Given the description of an element on the screen output the (x, y) to click on. 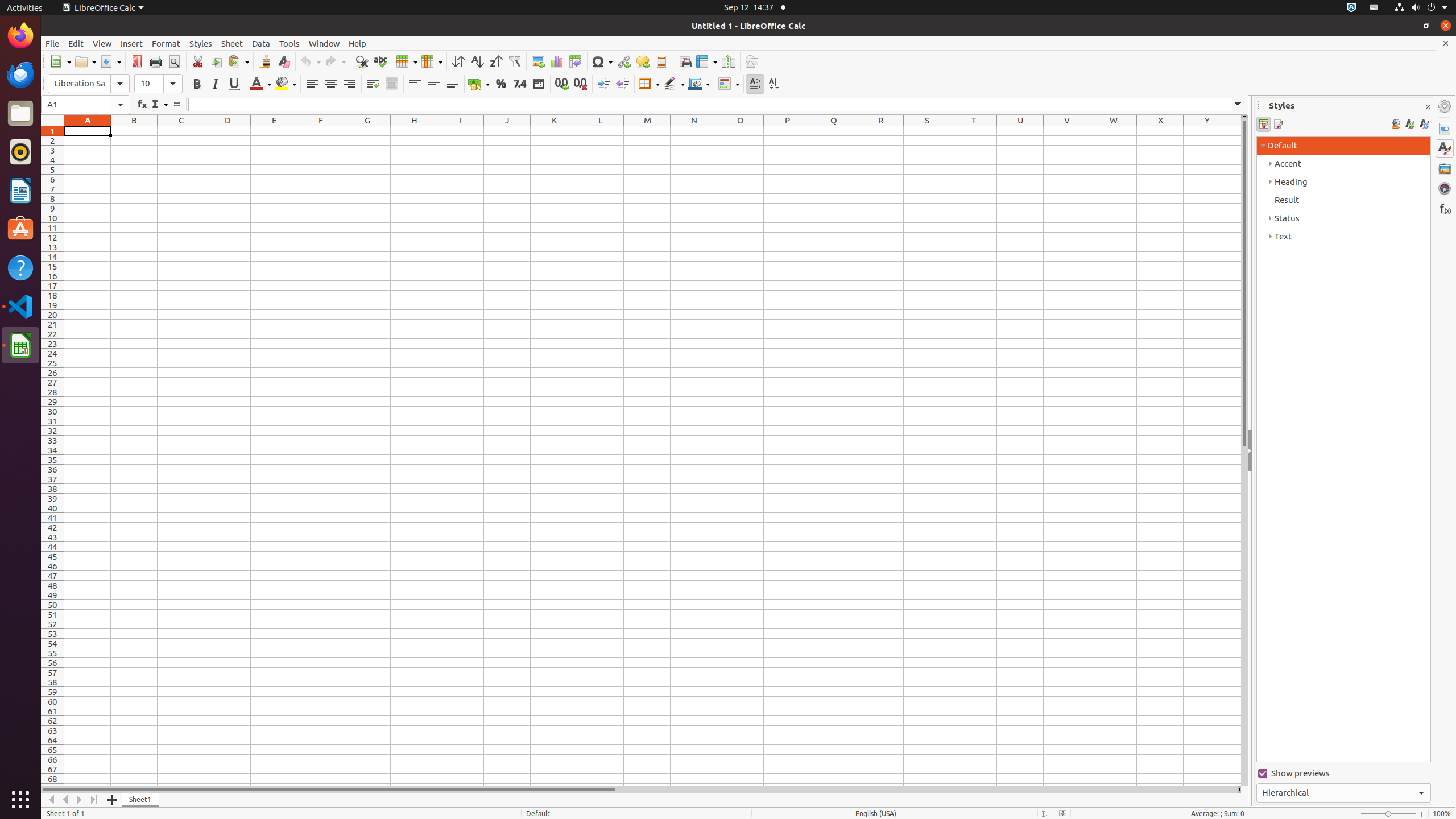
Sort Element type: push-button (457, 61)
PDF Element type: push-button (136, 61)
Text direction from top to bottom Element type: toggle-button (773, 83)
LibreOffice Calc Element type: push-button (20, 344)
Move To Home Element type: push-button (51, 799)
